Given the description of an element on the screen output the (x, y) to click on. 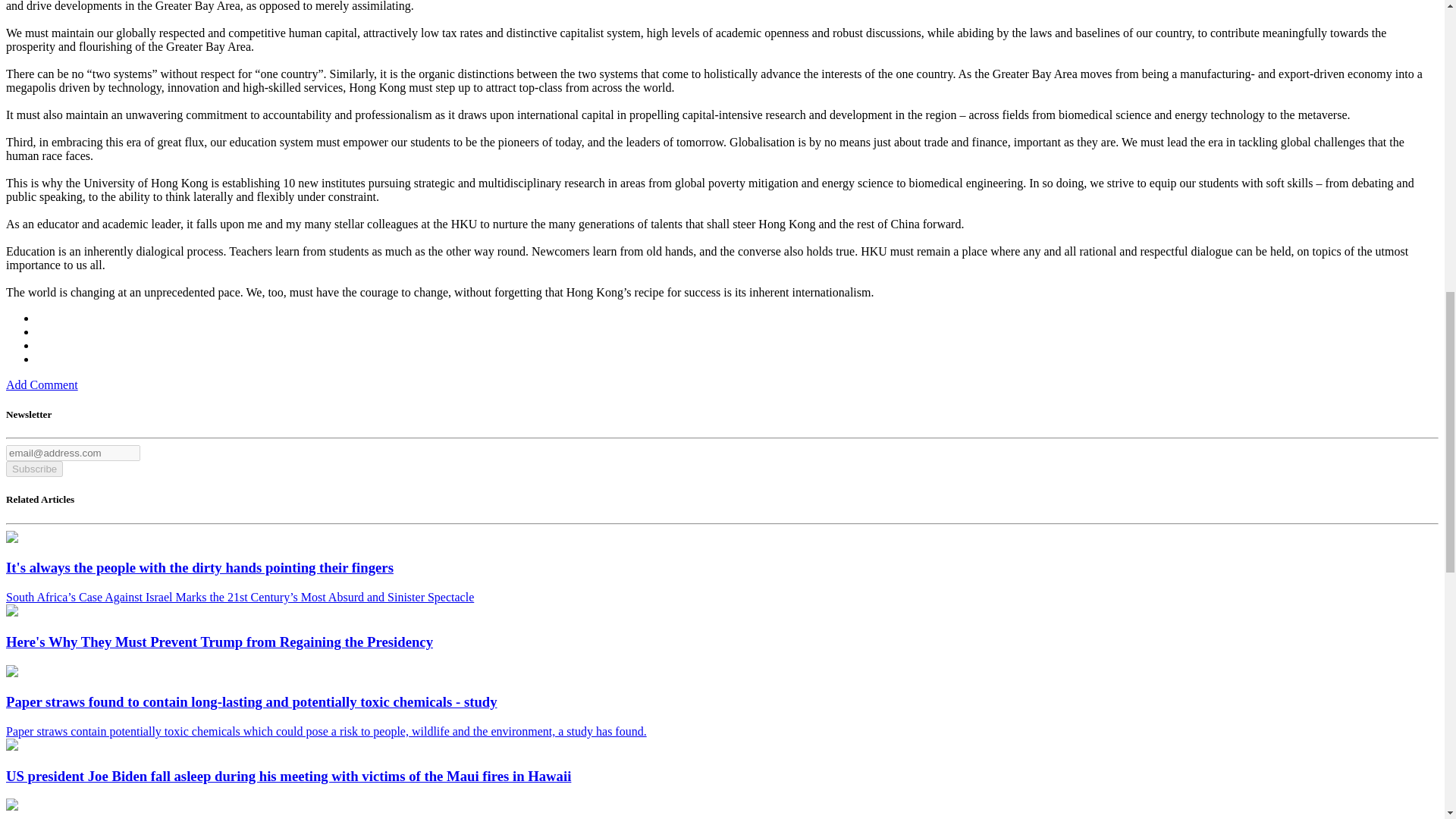
Add Comment (41, 384)
Subscribe (33, 468)
FTX's Bankman-Fried headed for jail after judge revokes bail (11, 806)
